Given the description of an element on the screen output the (x, y) to click on. 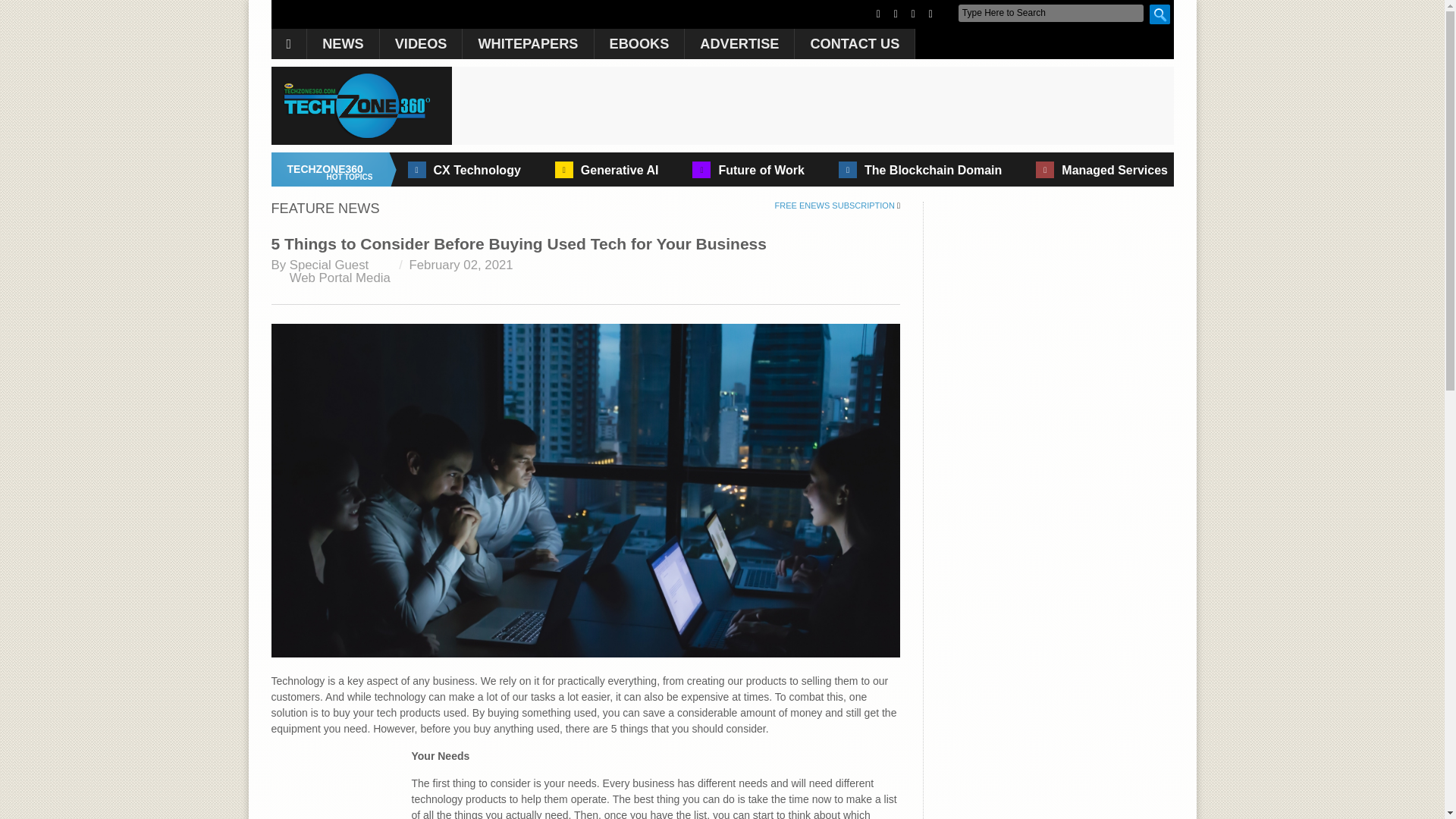
The Blockchain Domain (932, 169)
Managed Services (1114, 169)
The Blockchain Domain (932, 169)
Future of Work  (760, 169)
Generative AI (619, 169)
ADVERTISE (738, 43)
Future of Work (760, 169)
EBOOKS (639, 43)
Managed Services (1114, 169)
CX Technology (477, 169)
